Given the description of an element on the screen output the (x, y) to click on. 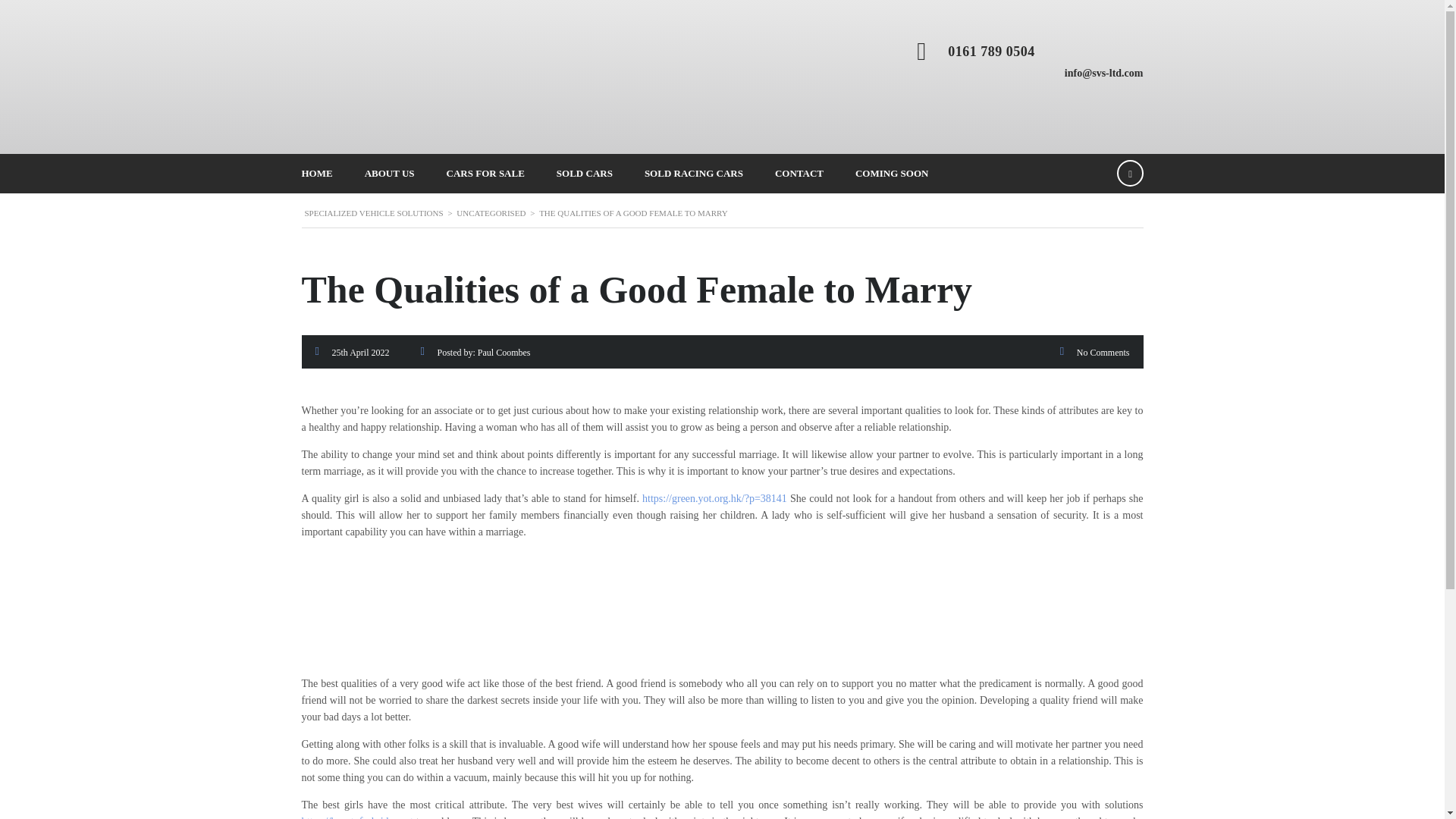
Go to the Uncategorised Category archives. (491, 212)
Home (453, 78)
SPECIALIZED VEHICLE SOLUTIONS (374, 212)
0161 789 0504 (991, 51)
HOME (316, 173)
COMING SOON (891, 173)
No Comments (1103, 352)
CONTACT (799, 173)
SOLD RACING CARS (693, 173)
CARS FOR SALE (485, 173)
ABOUT US (389, 173)
SOLD CARS (584, 173)
UNCATEGORISED (491, 212)
Go to Specialized Vehicle Solutions. (374, 212)
